Given the description of an element on the screen output the (x, y) to click on. 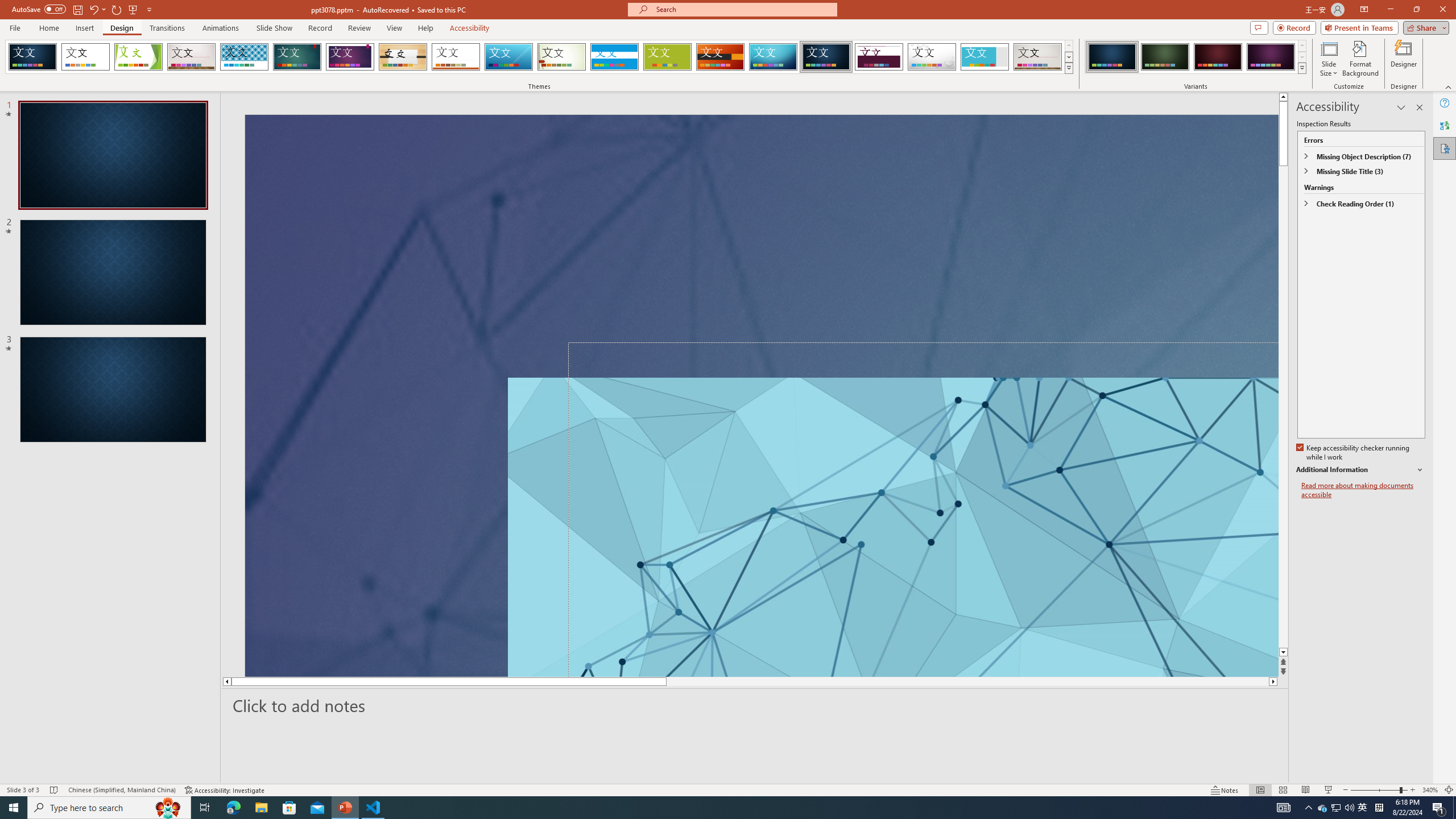
Retrospect (455, 56)
Slide Notes (755, 705)
Frame (984, 56)
